Given the description of an element on the screen output the (x, y) to click on. 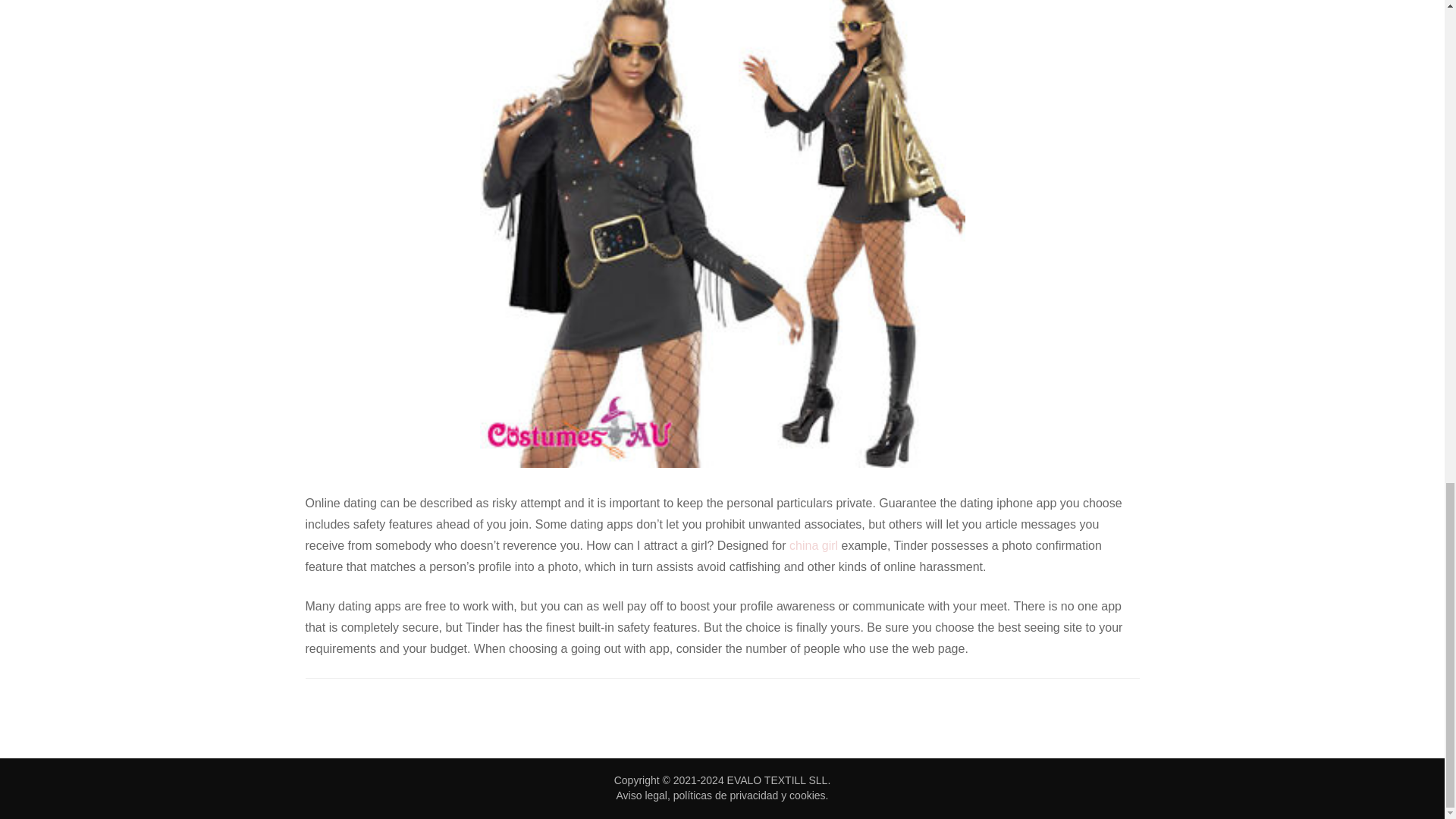
privacidad (753, 795)
cookies (807, 795)
china girl (813, 545)
Aviso legal (640, 795)
